Given the description of an element on the screen output the (x, y) to click on. 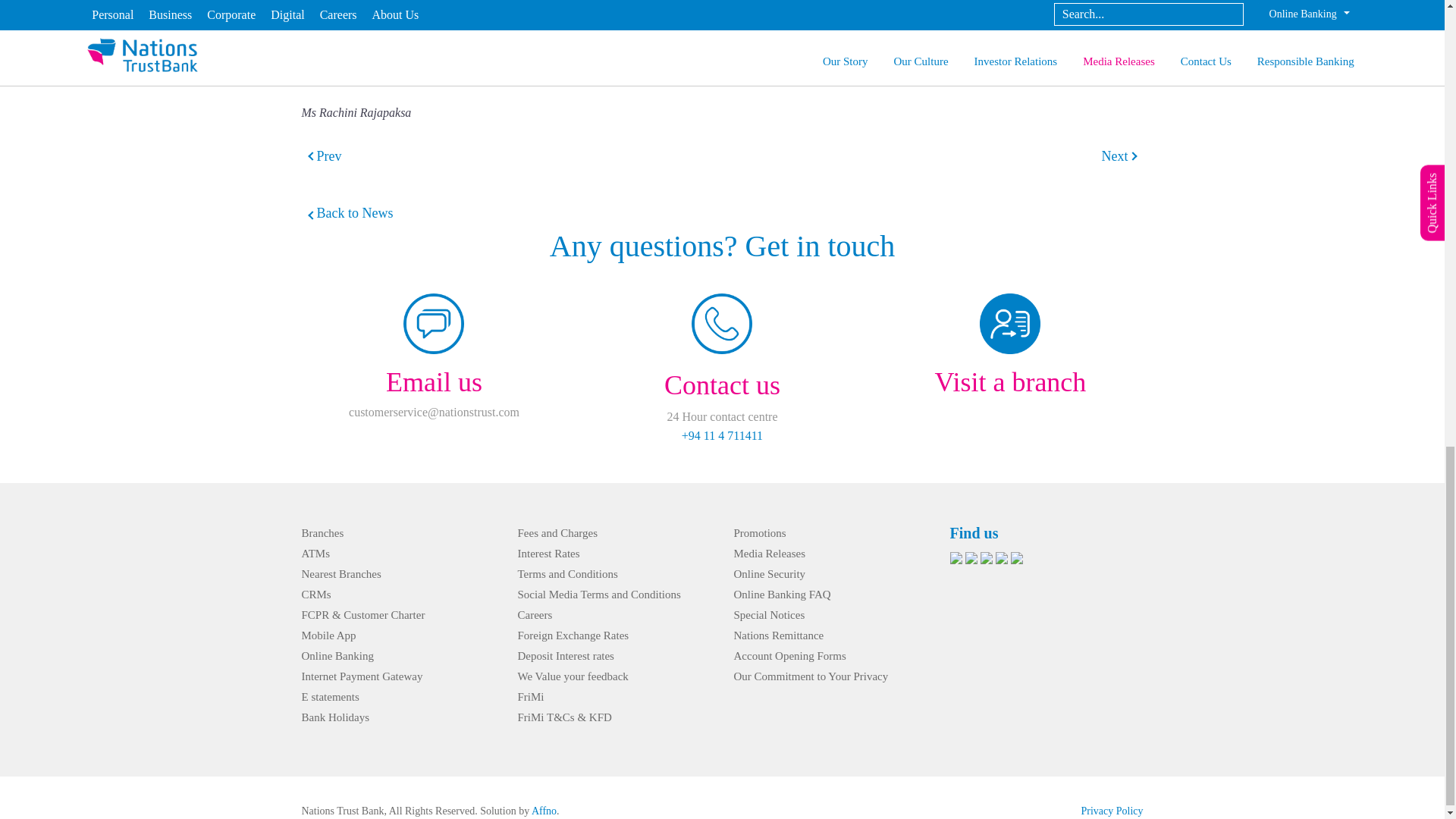
Foreign Exchange Rates (572, 635)
Contact us (721, 385)
Prev (328, 156)
Next (1114, 156)
Careers (533, 614)
Fees and Charges (556, 532)
We Value your feedback (571, 676)
Mobile App (328, 635)
FriMi (529, 696)
Online Banking (337, 655)
Back to News (347, 212)
Social Media Terms and Conditions (597, 594)
Terms and Conditions (566, 573)
CRMs (316, 594)
Nearest Branches (341, 573)
